Given the description of an element on the screen output the (x, y) to click on. 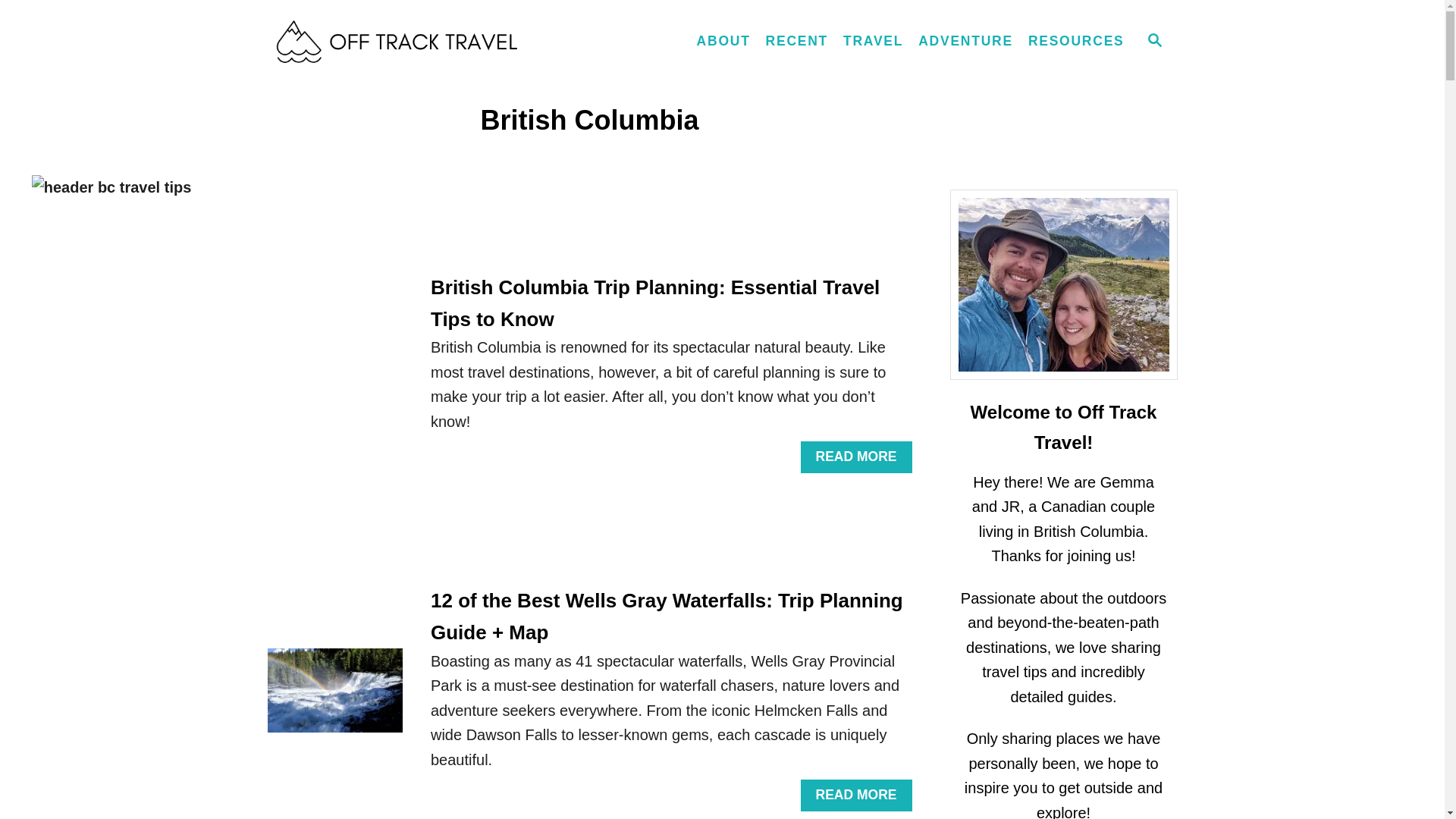
RECENT (796, 41)
TRAVEL (873, 41)
ABOUT (723, 41)
SEARCH (1153, 40)
Off Track Travel (403, 41)
RESOURCES (1076, 41)
ADVENTURE (965, 41)
